Given the description of an element on the screen output the (x, y) to click on. 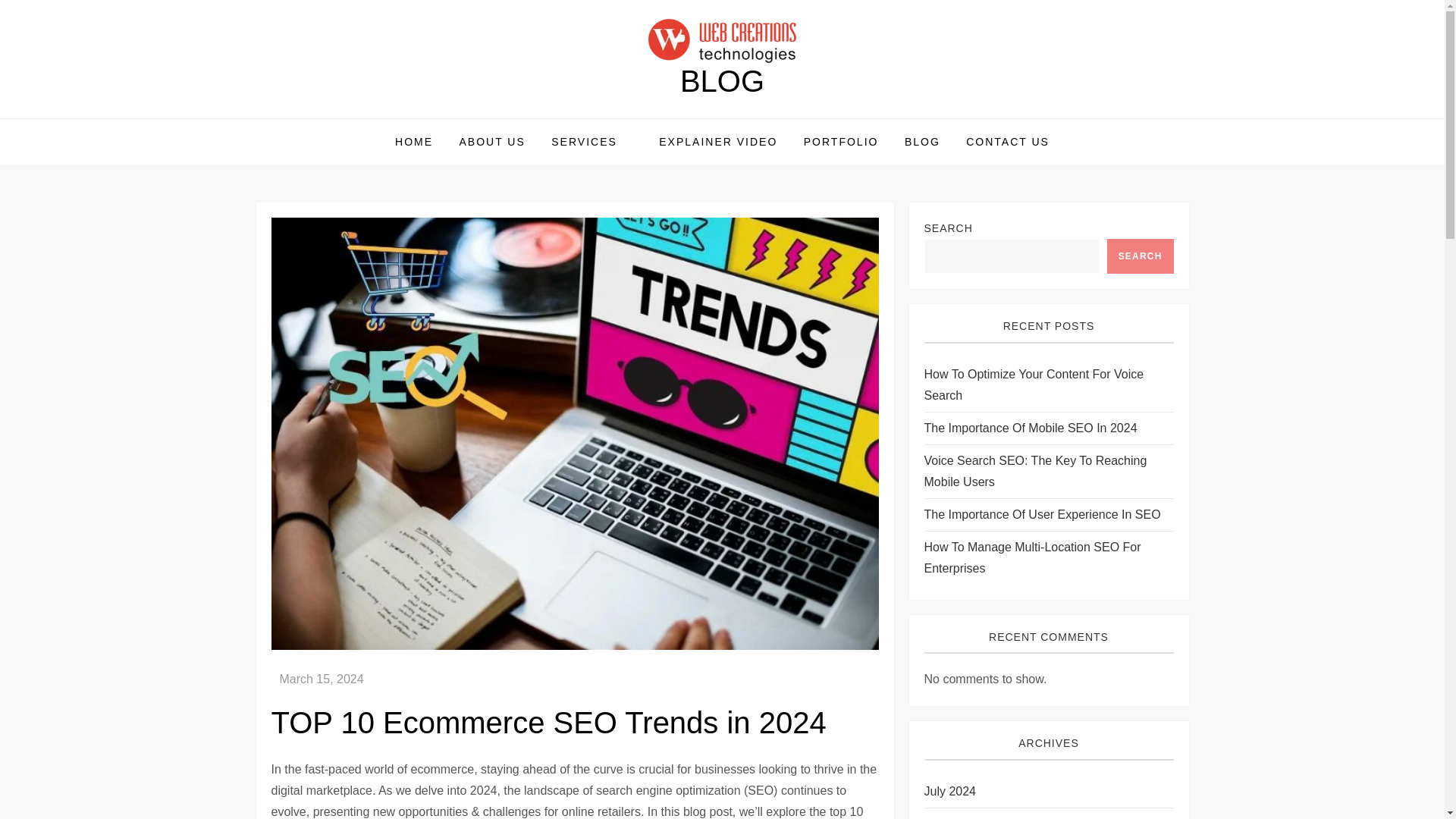
PORTFOLIO (840, 141)
BLOG (721, 80)
SERVICES (592, 141)
SEARCH (1139, 256)
HOME (414, 141)
How To Optimize Your Content For Voice Search (1048, 384)
Voice Search SEO: The Key To Reaching Mobile Users (1048, 471)
ABOUT US (490, 141)
The Importance Of User Experience In SEO (1041, 514)
BLOG (922, 141)
June 2024 (951, 816)
EXPLAINER VIDEO (718, 141)
CONTACT US (1008, 141)
How To Manage Multi-Location SEO For Enterprises (1048, 558)
July 2024 (949, 791)
